Given the description of an element on the screen output the (x, y) to click on. 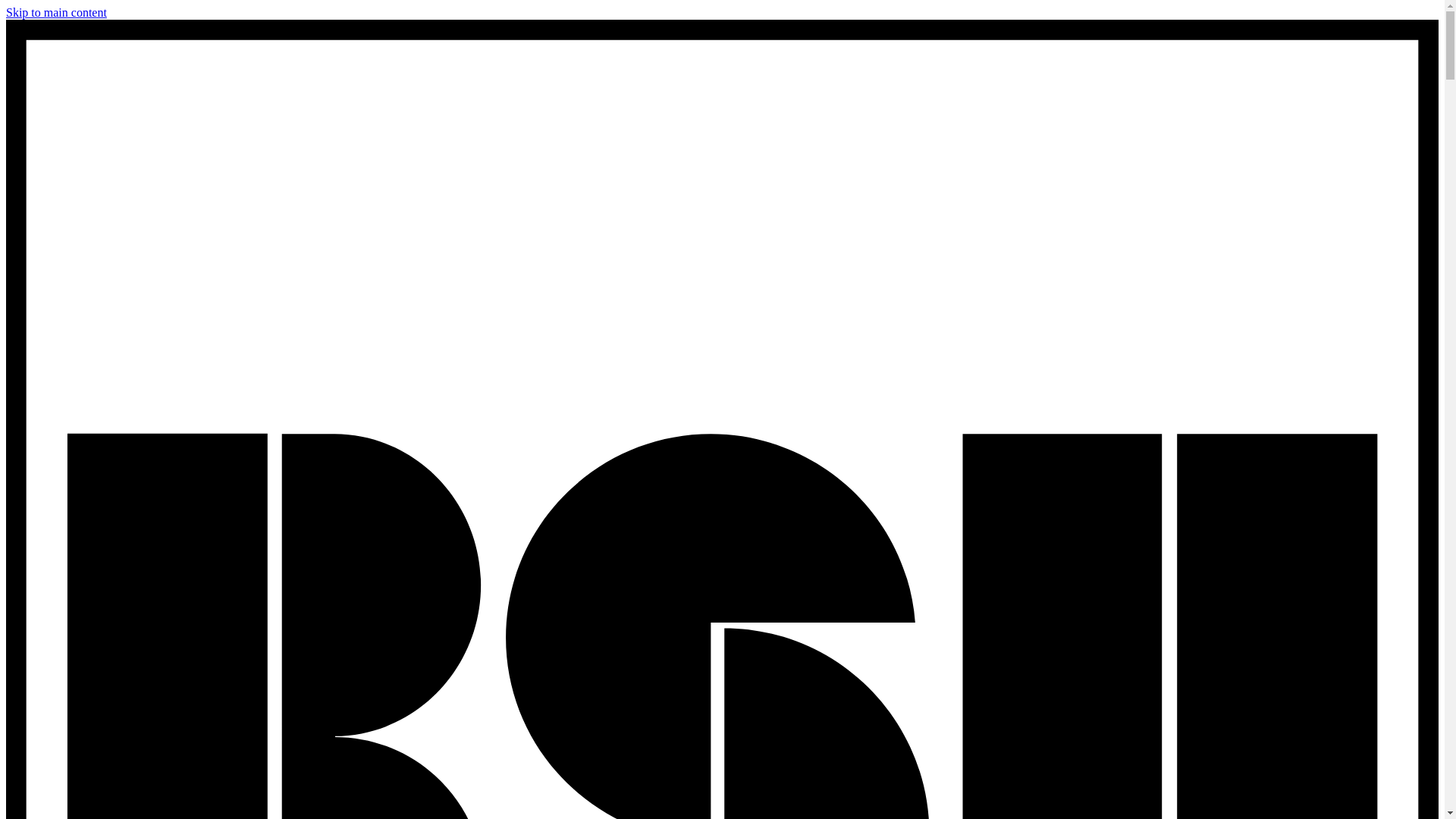
Skip to main content (55, 11)
